Given the description of an element on the screen output the (x, y) to click on. 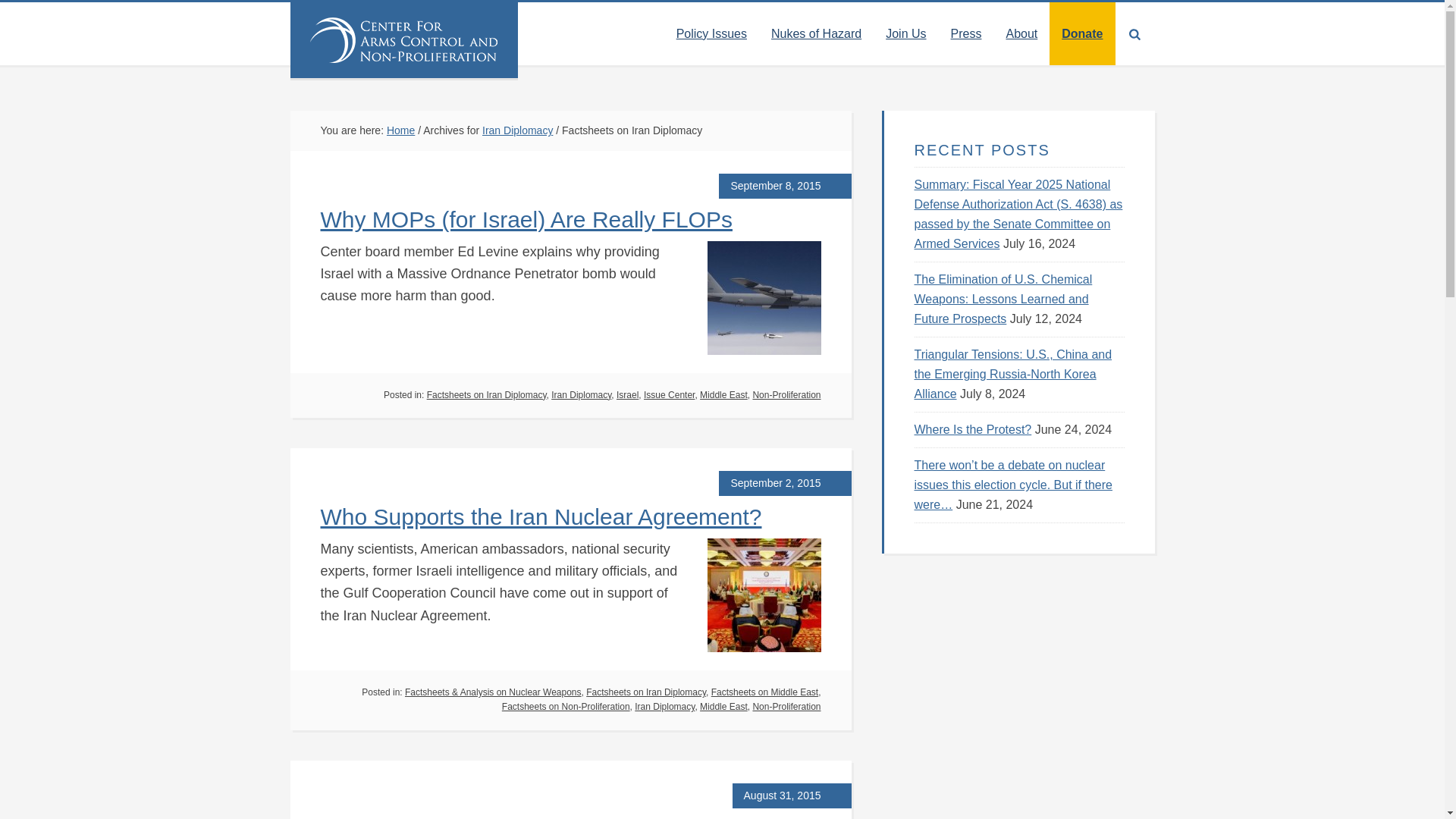
Iran Diplomacy (517, 130)
Join Us (905, 33)
Issue Center (668, 394)
Israel (627, 394)
Policy Issues (710, 33)
Home (400, 130)
CENTER FOR ARMS CONTROL AND NON-PROLIFERATION (402, 39)
Non-Proliferation (786, 394)
Middle East (724, 394)
About (1020, 33)
Factsheets on Iran Diplomacy (486, 394)
Donate (1082, 33)
Iran Diplomacy (581, 394)
Nukes of Hazard (815, 33)
